Given the description of an element on the screen output the (x, y) to click on. 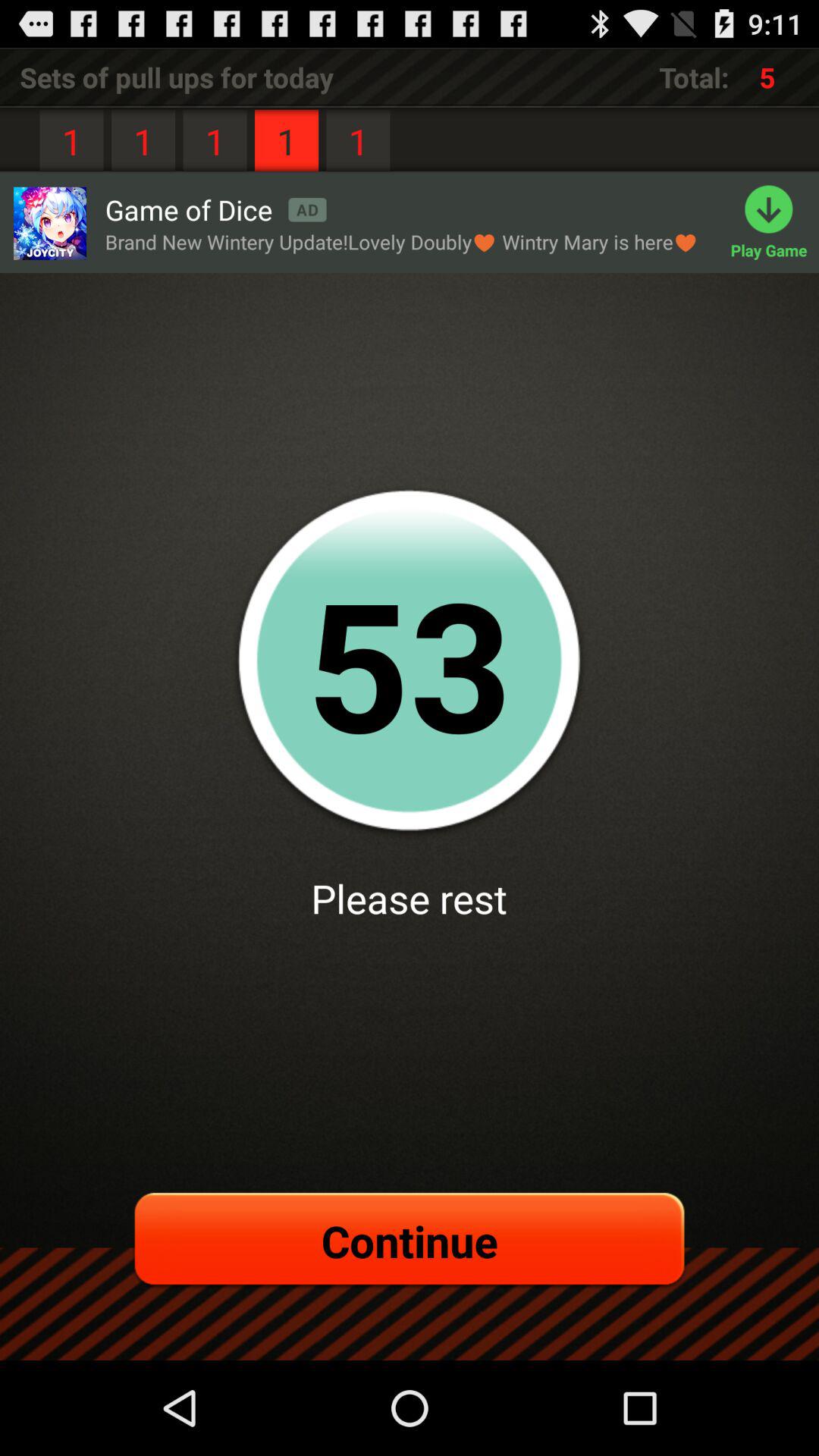
turn off play game (774, 223)
